Given the description of an element on the screen output the (x, y) to click on. 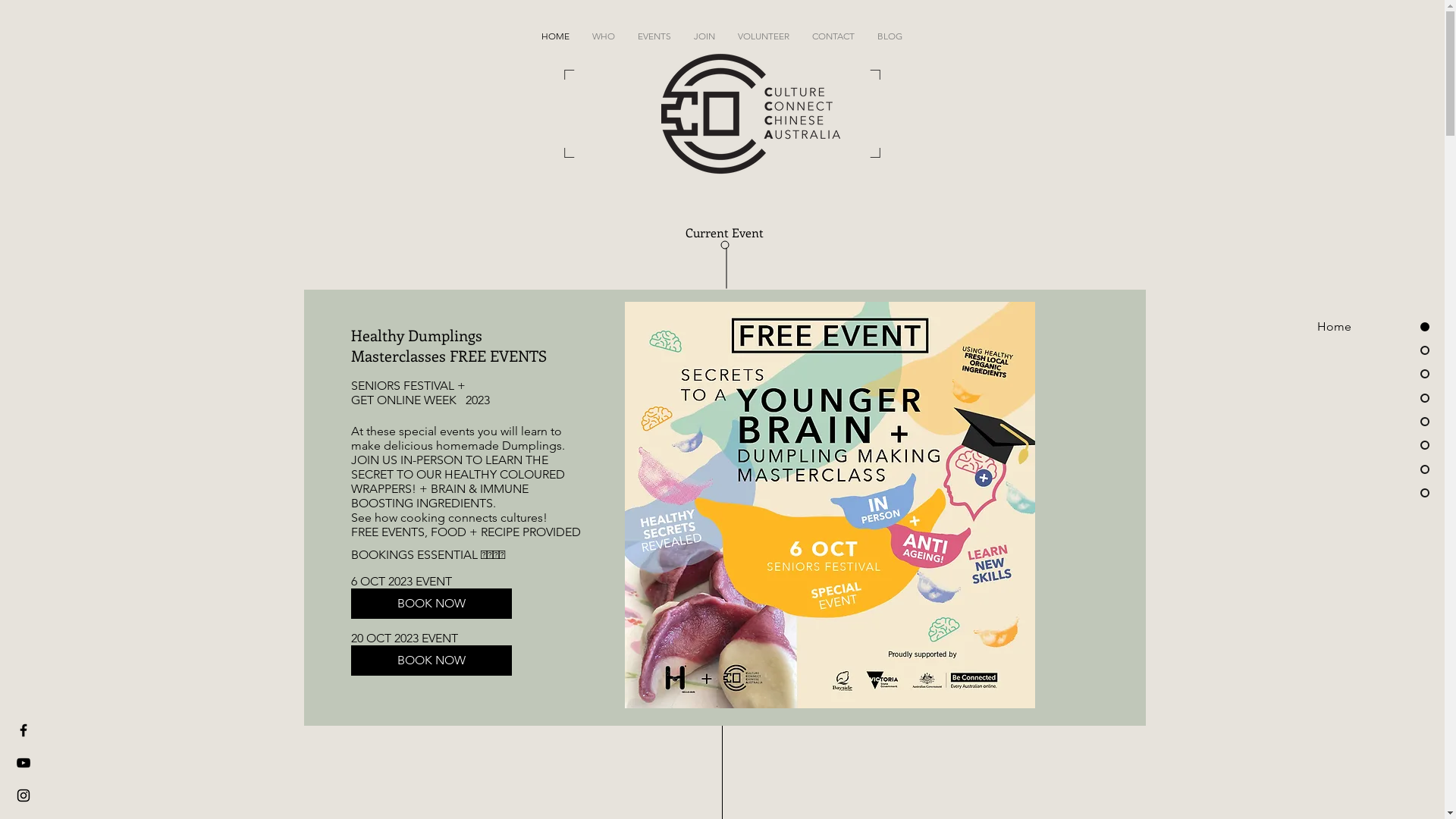
BOOK NOW Element type: text (430, 603)
HOME Element type: text (555, 36)
JOIN Element type: text (704, 36)
WHO Element type: text (603, 36)
VOLUNTEER Element type: text (763, 36)
EVENTS Element type: text (654, 36)
CONTACT Element type: text (833, 36)
BOOK NOW Element type: text (430, 660)
BLOG Element type: text (889, 36)
Home Element type: text (1367, 326)
